Given the description of an element on the screen output the (x, y) to click on. 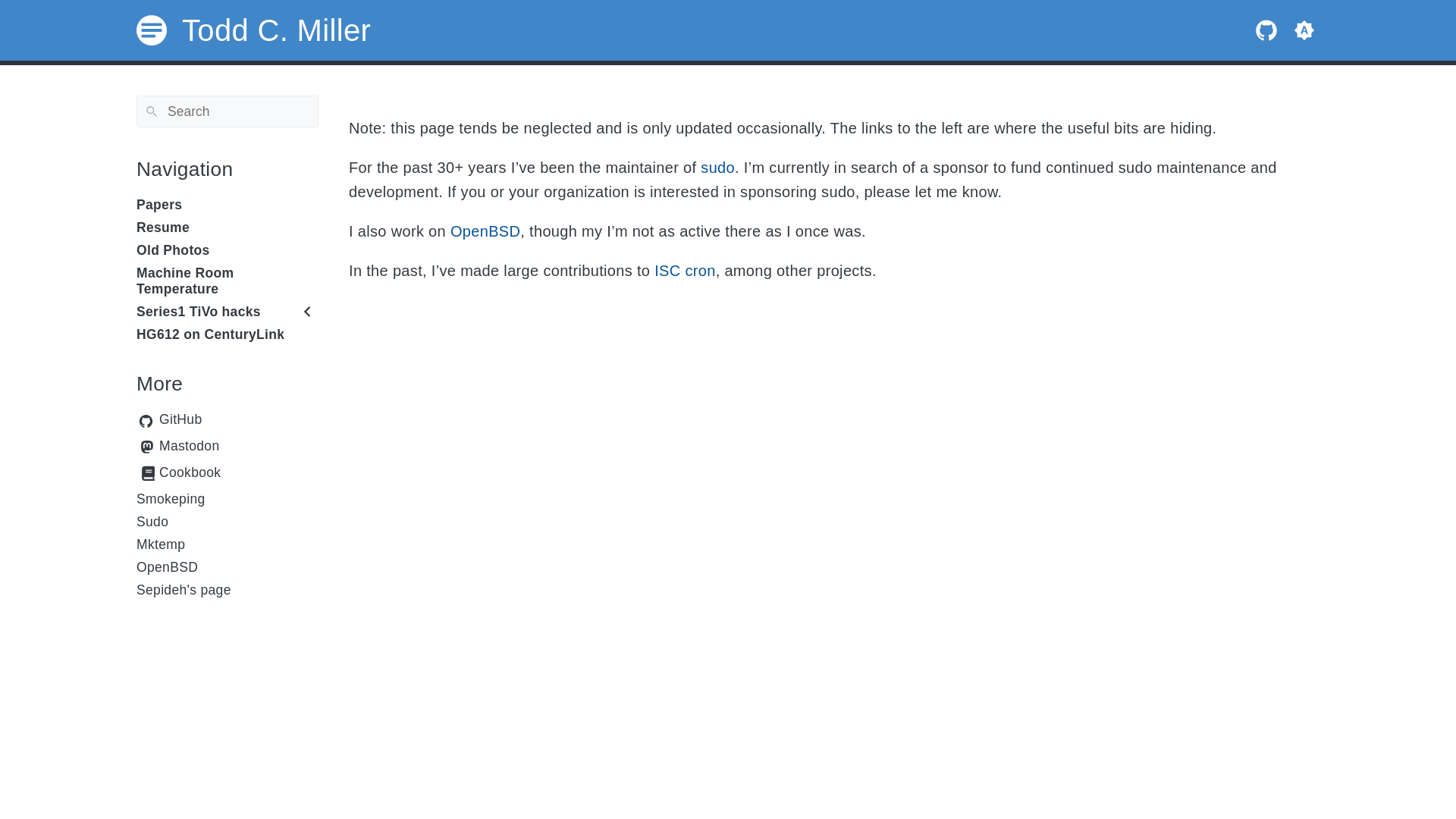
Mktemp (227, 544)
Mastodon (238, 447)
GitHub (1265, 30)
Resume (227, 227)
Todd C. Miller (253, 30)
OpenBSD (227, 566)
sudo (717, 167)
Series1 TiVo hacks (198, 311)
Sudo (227, 521)
GitHub (1265, 28)
Machine Room Temperature (227, 280)
OpenBSD (484, 231)
HG612 on CenturyLink (227, 334)
Old Photos (227, 249)
Smokeping (227, 498)
